Given the description of an element on the screen output the (x, y) to click on. 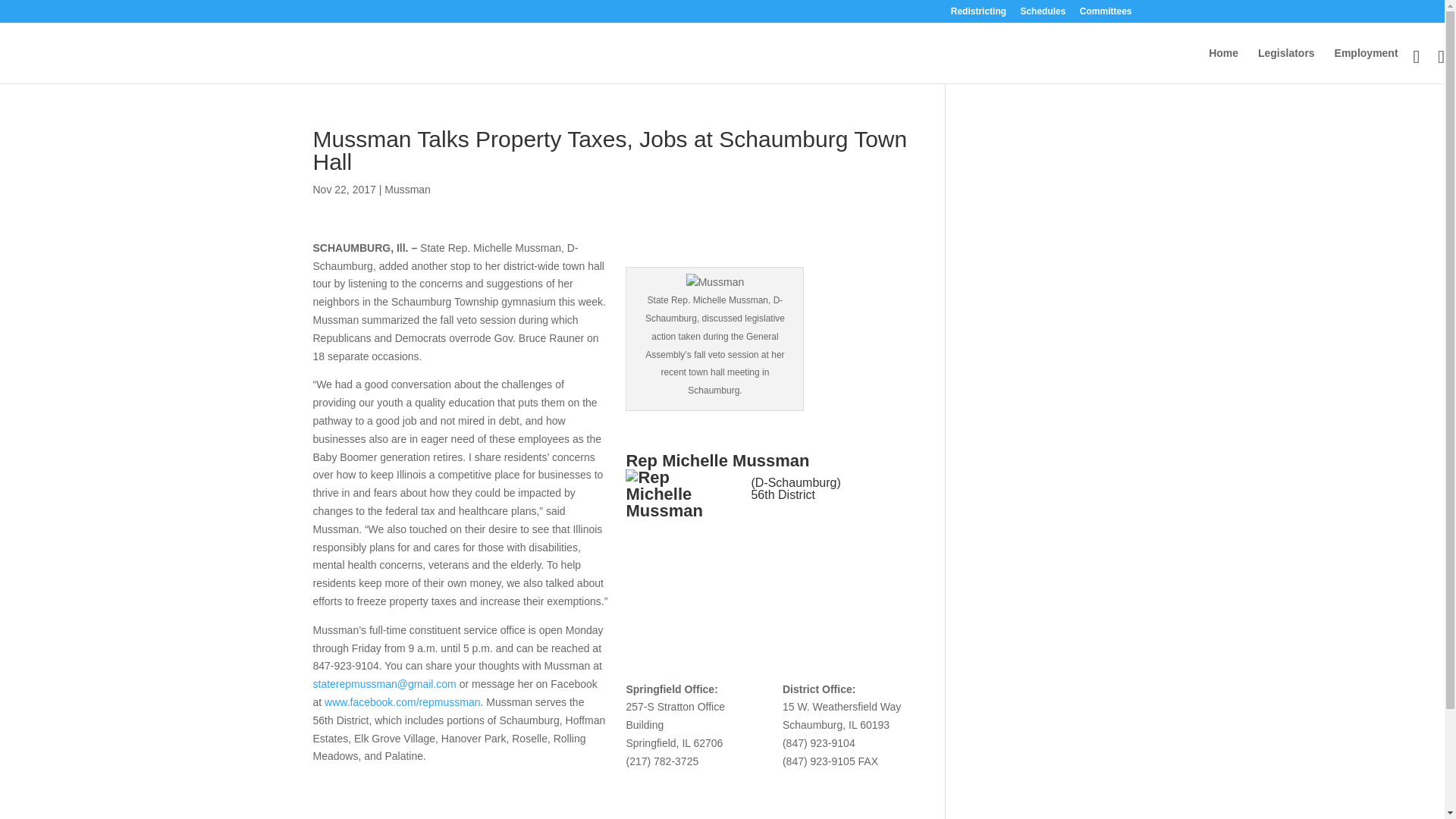
Schedules (1042, 14)
Redistricting (978, 14)
Employment (1366, 65)
Follow on Facebook (762, 529)
Legislators (1285, 65)
Mussman (407, 189)
Committees (1106, 14)
